Given the description of an element on the screen output the (x, y) to click on. 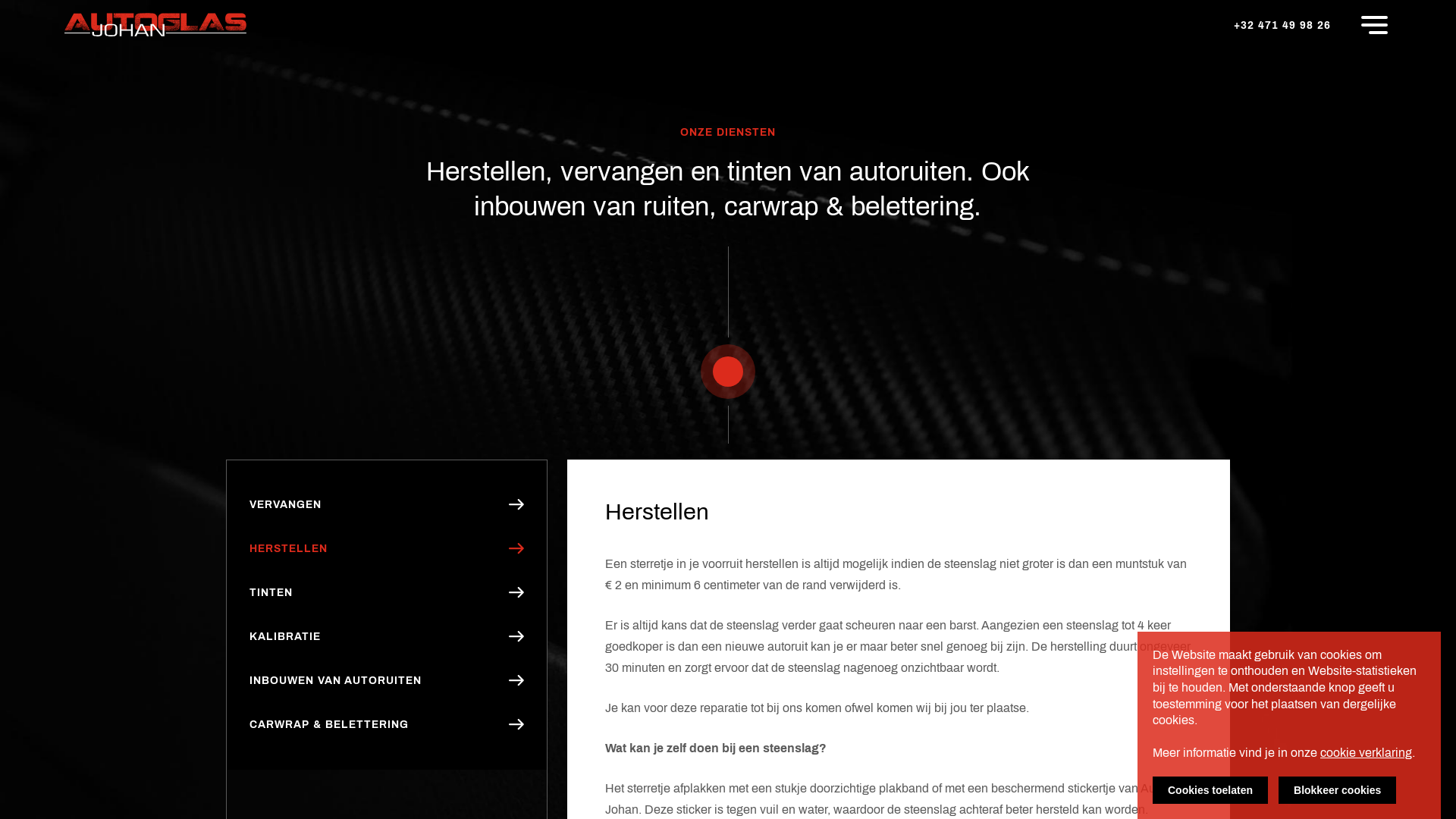
HERSTELLEN Element type: text (386, 549)
KALIBRATIE Element type: text (386, 636)
+32 471 49 98 26 Element type: text (1281, 25)
CARWRAP & BELETTERING Element type: text (386, 724)
Cookies toelaten Element type: text (1209, 789)
cookie verklaring Element type: text (1366, 752)
INBOUWEN VAN AUTORUITEN Element type: text (386, 680)
Blokkeer cookies Element type: text (1337, 789)
TINTEN Element type: text (386, 593)
VERVANGEN Element type: text (386, 505)
